Given the description of an element on the screen output the (x, y) to click on. 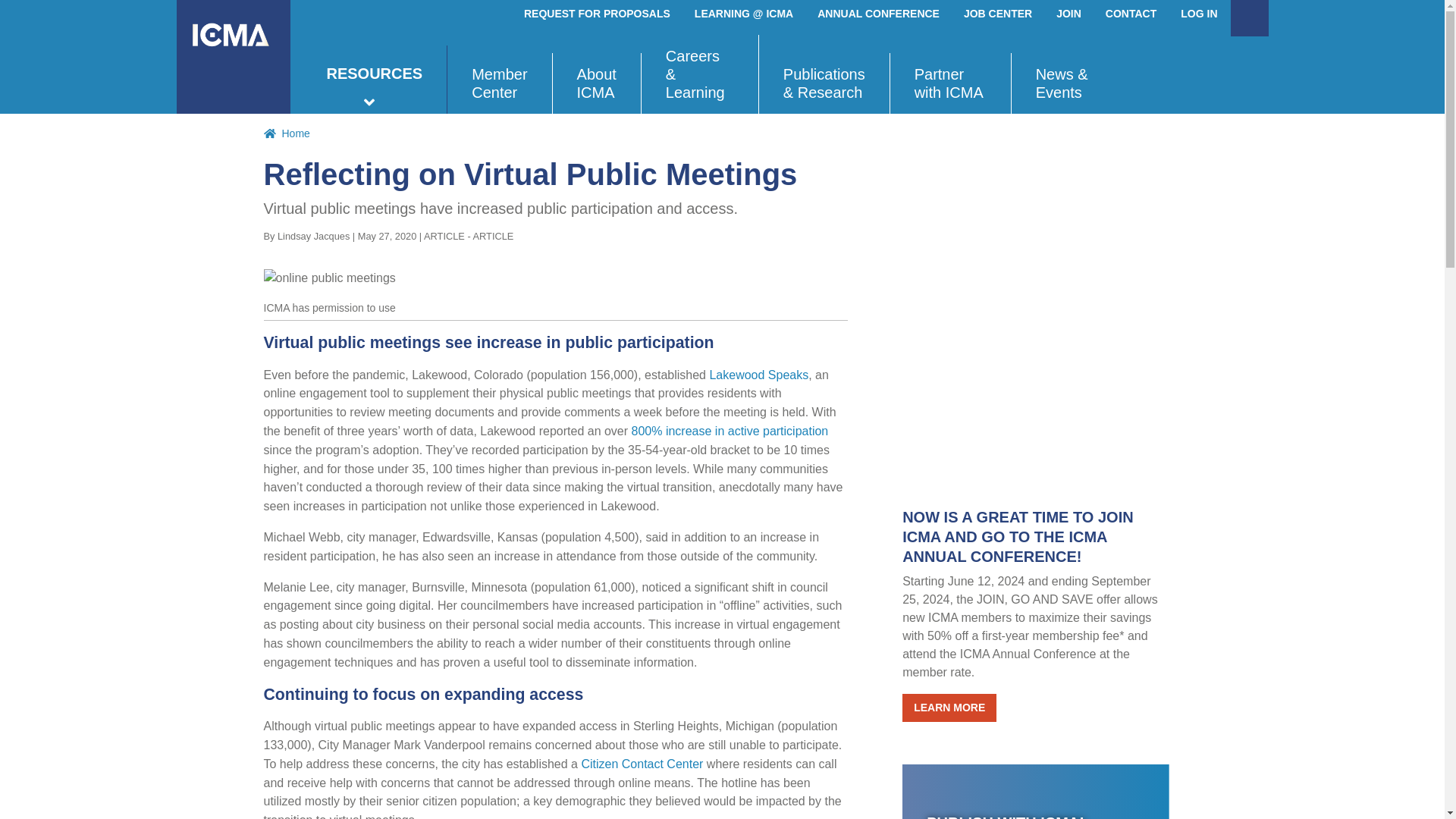
Skip to main content (721, 1)
online public meetings (555, 278)
3rd party ad content (1015, 351)
RESOURCES (373, 79)
Home (232, 56)
View ICMA's Requests for Proposals (597, 14)
